Given the description of an element on the screen output the (x, y) to click on. 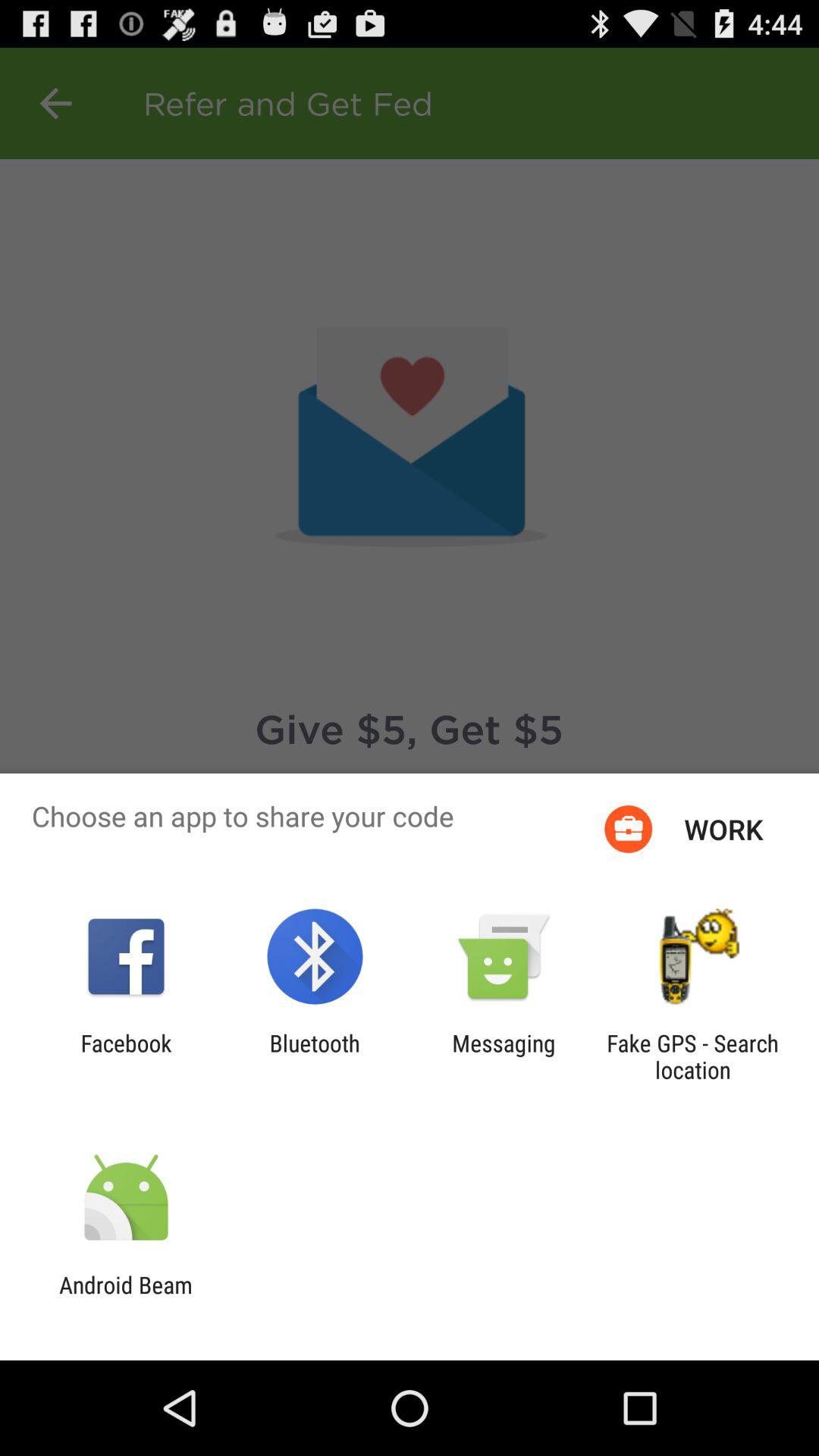
turn off bluetooth icon (314, 1056)
